Given the description of an element on the screen output the (x, y) to click on. 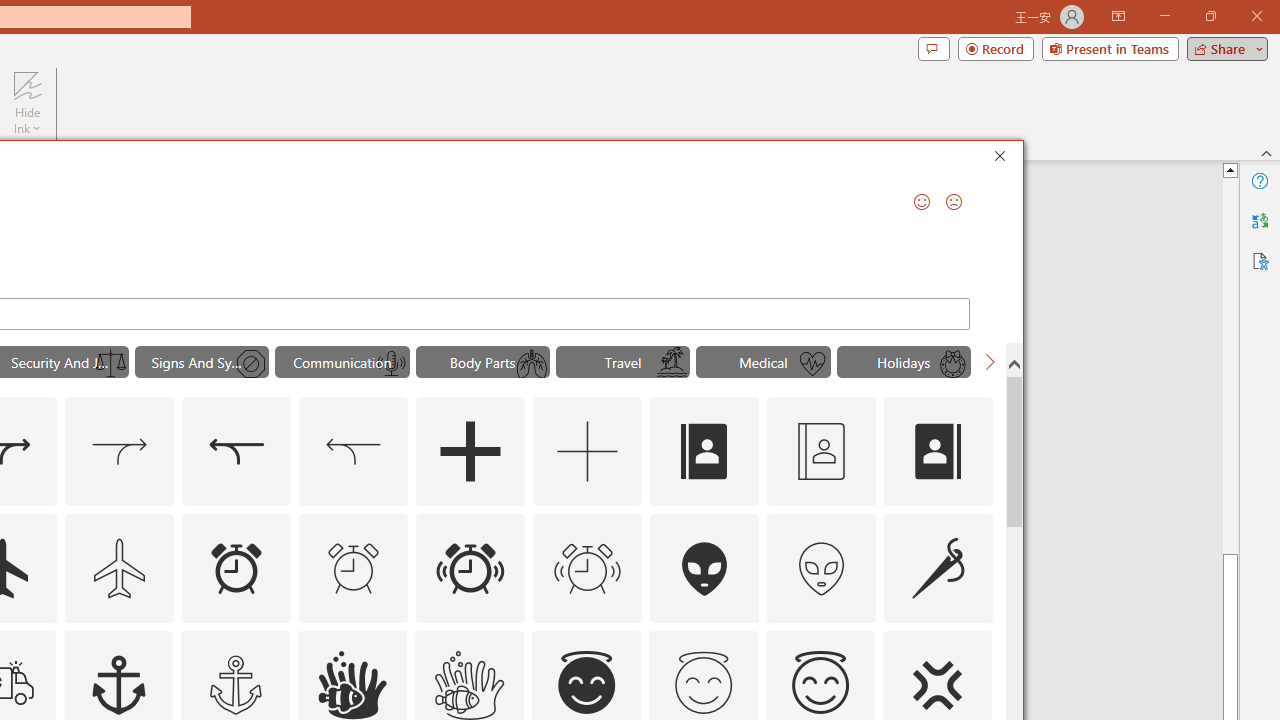
AutomationID: Icons_ScalesofJustice_M (111, 364)
AutomationID: Icons_AddressBook_LTR (705, 452)
AutomationID: Icons (703, 683)
AutomationID: Icons_AddressBook_RTL (938, 452)
"Signs And Symbols" Icons. (201, 362)
"Medical" Icons. (763, 362)
AutomationID: Icons_AddressBook_LTR_M (821, 452)
AutomationID: Icons_Acquisition_RTL_M (353, 452)
"Communication" Icons. (342, 362)
